Given the description of an element on the screen output the (x, y) to click on. 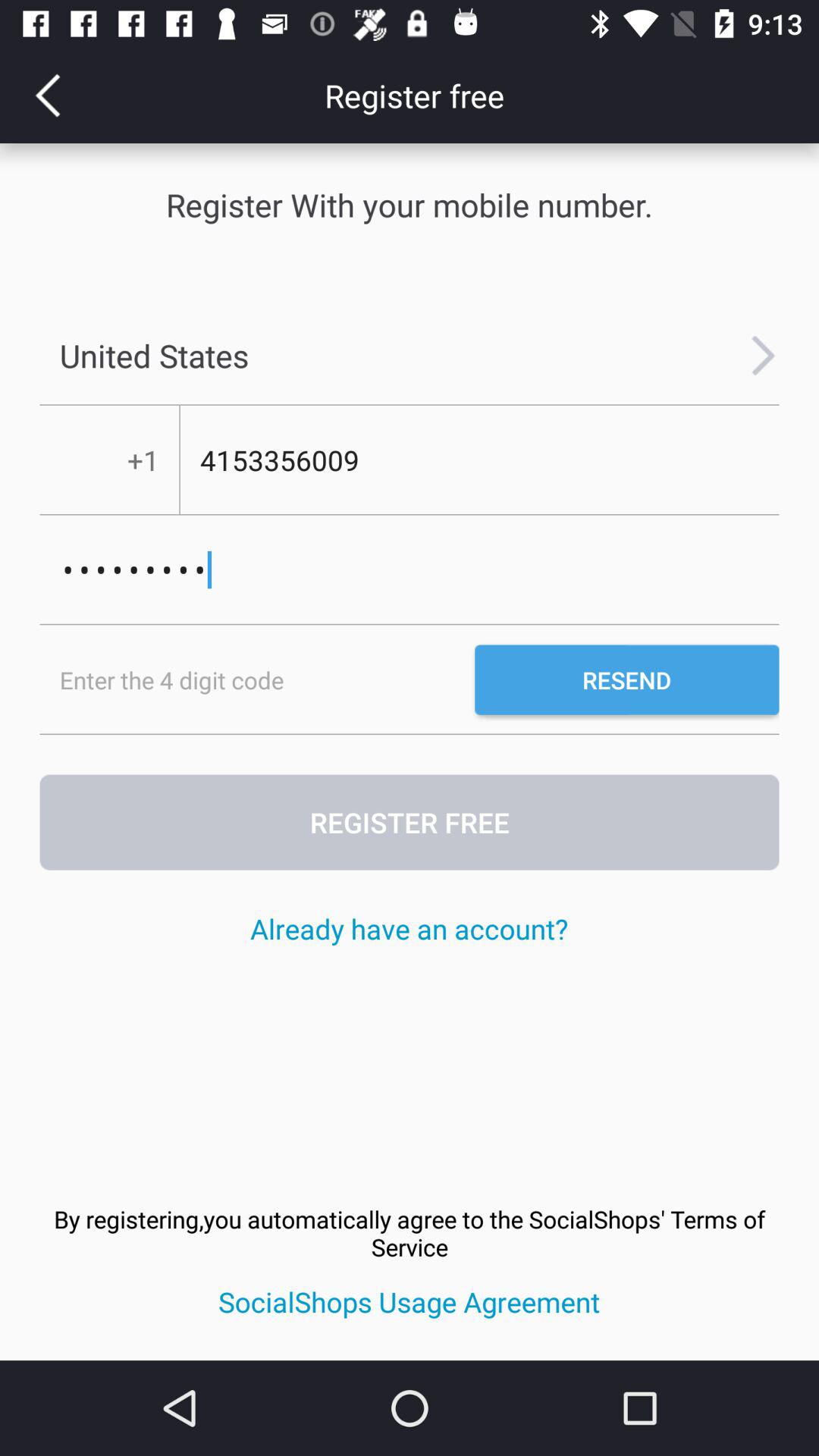
tap crowd3116 item (409, 570)
